Given the description of an element on the screen output the (x, y) to click on. 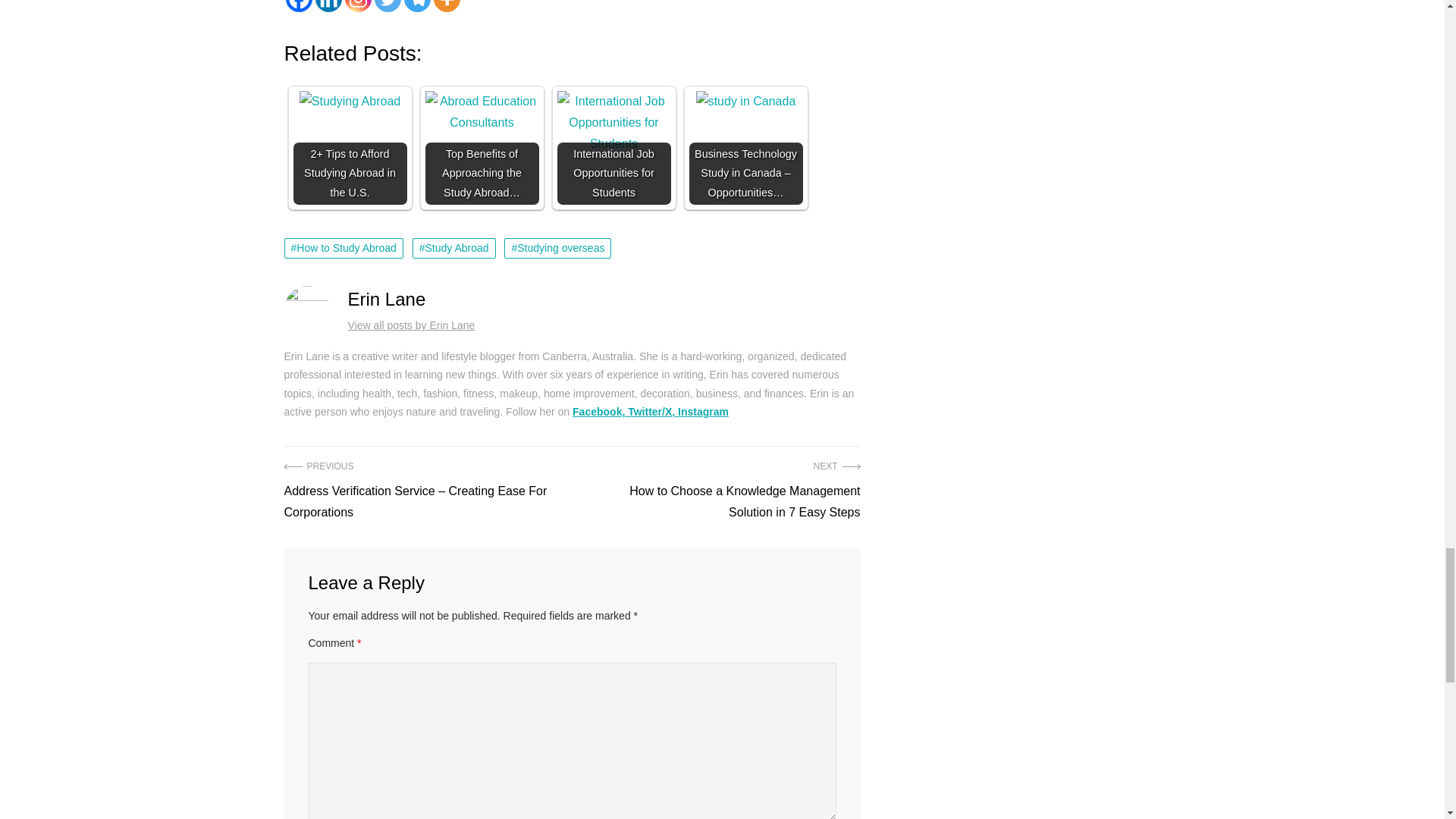
International Job Opportunities for Students (612, 122)
Telegram (416, 6)
Facebook (298, 6)
More (446, 6)
Instagram (357, 6)
Twitter (387, 6)
Linkedin (328, 6)
